Given the description of an element on the screen output the (x, y) to click on. 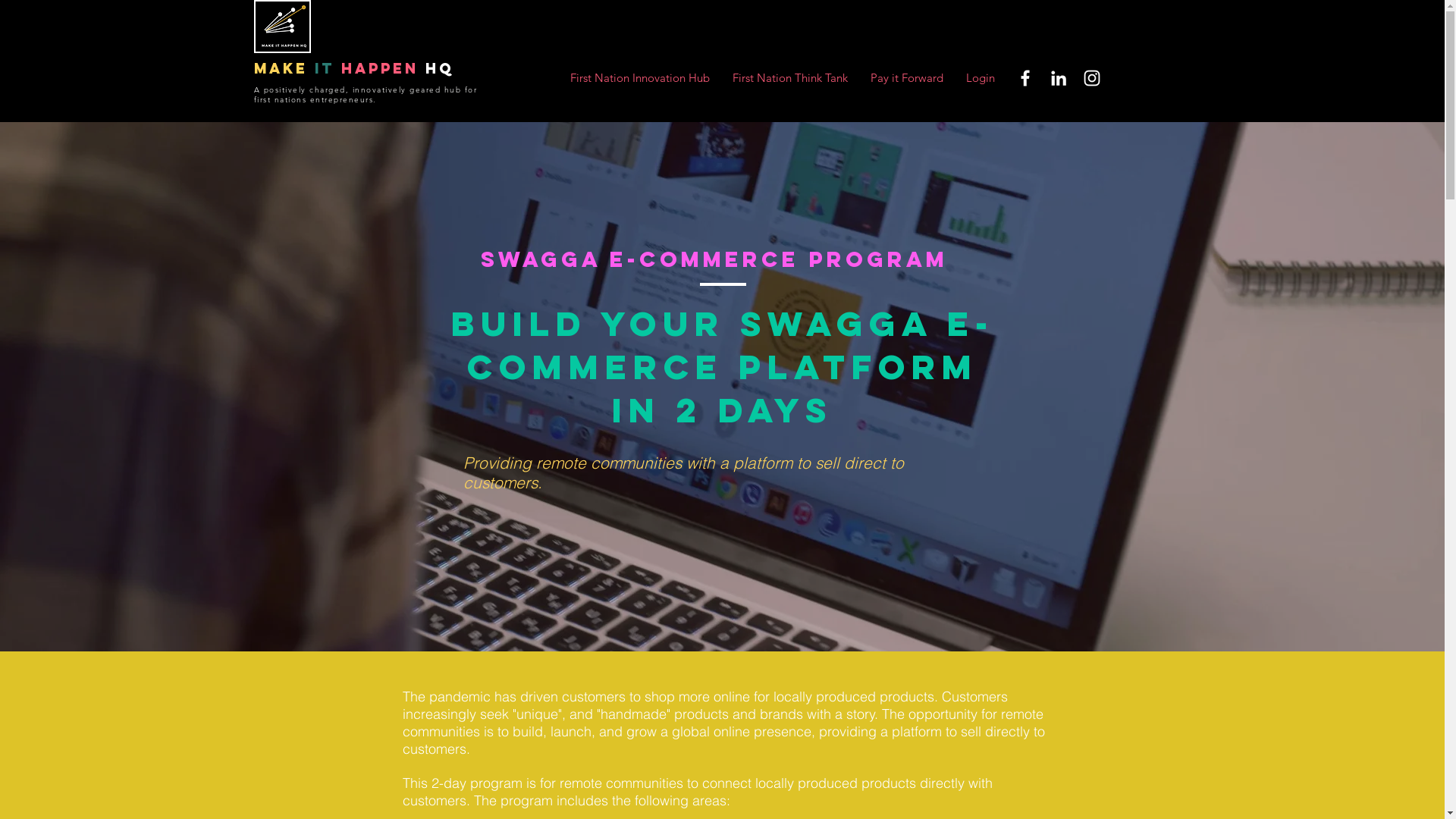
Pay it Forward Element type: text (905, 78)
happen Element type: text (379, 68)
First Nation Innovation Hub Element type: text (639, 78)
HQ Element type: text (435, 68)
it Element type: text (323, 68)
First Nation Think Tank Element type: text (789, 78)
make Element type: text (280, 68)
Login Element type: text (979, 78)
